Given the description of an element on the screen output the (x, y) to click on. 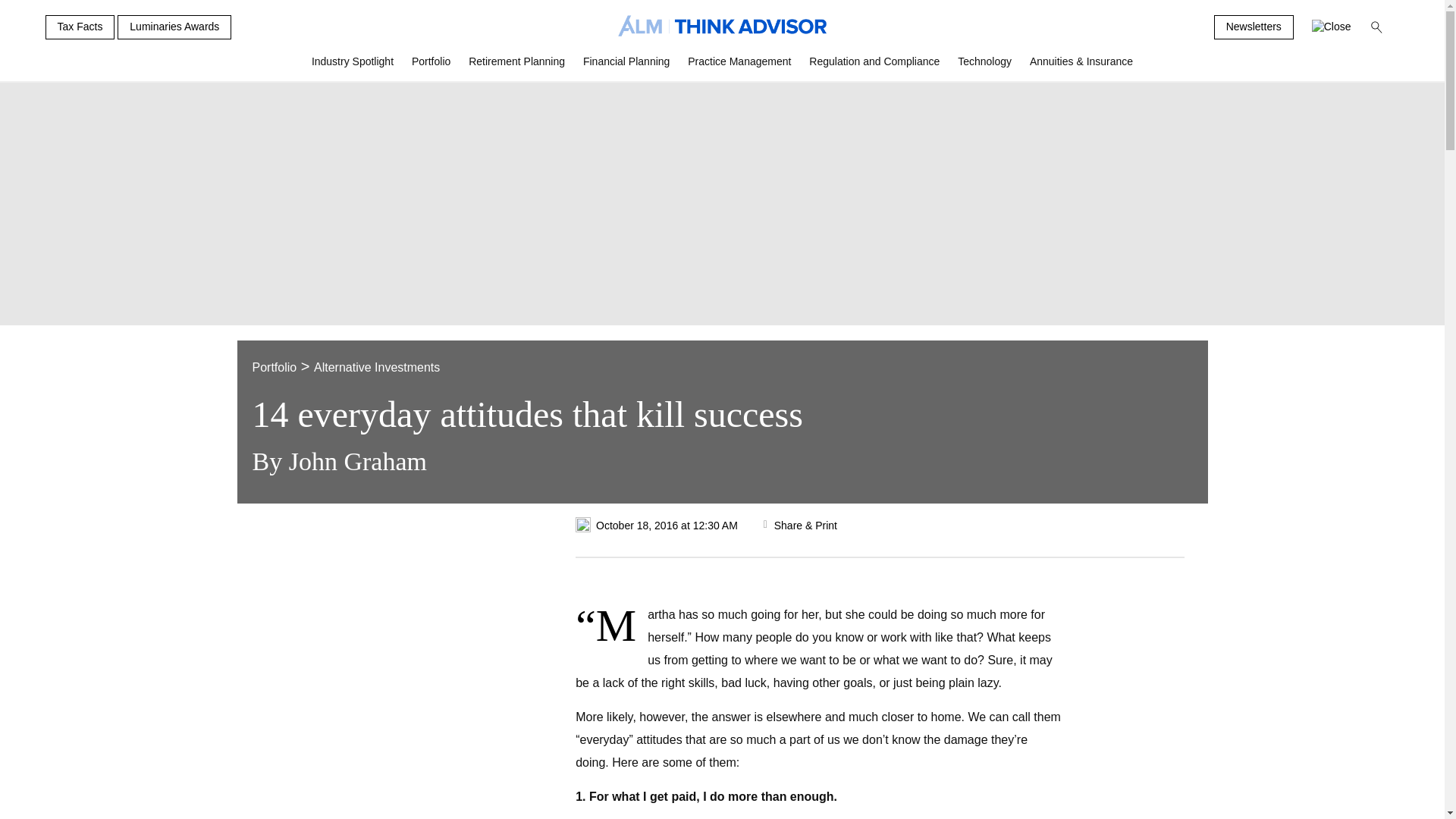
Tax Facts (80, 27)
Newsletters (1254, 27)
Industry Spotlight (352, 67)
Luminaries Awards (174, 27)
